Given the description of an element on the screen output the (x, y) to click on. 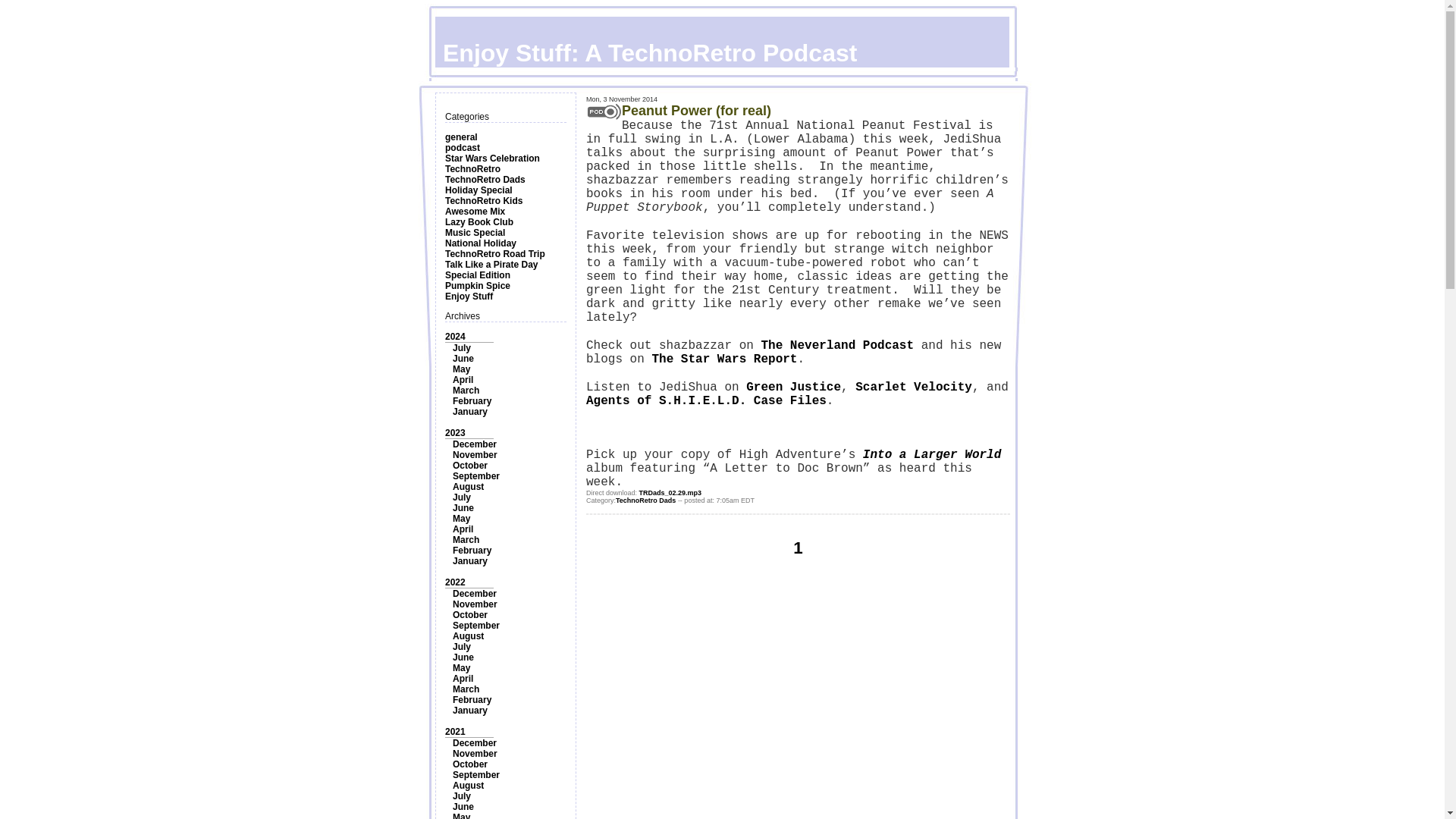
Holiday Special (478, 190)
December (474, 593)
September (475, 475)
TechnoRetro Road Trip (494, 253)
July (461, 347)
February (472, 550)
March (465, 539)
general (461, 136)
Special Edition (478, 275)
January (469, 561)
May (461, 518)
National Holiday (480, 243)
December (474, 443)
Awesome Mix (475, 211)
October (469, 465)
